Given the description of an element on the screen output the (x, y) to click on. 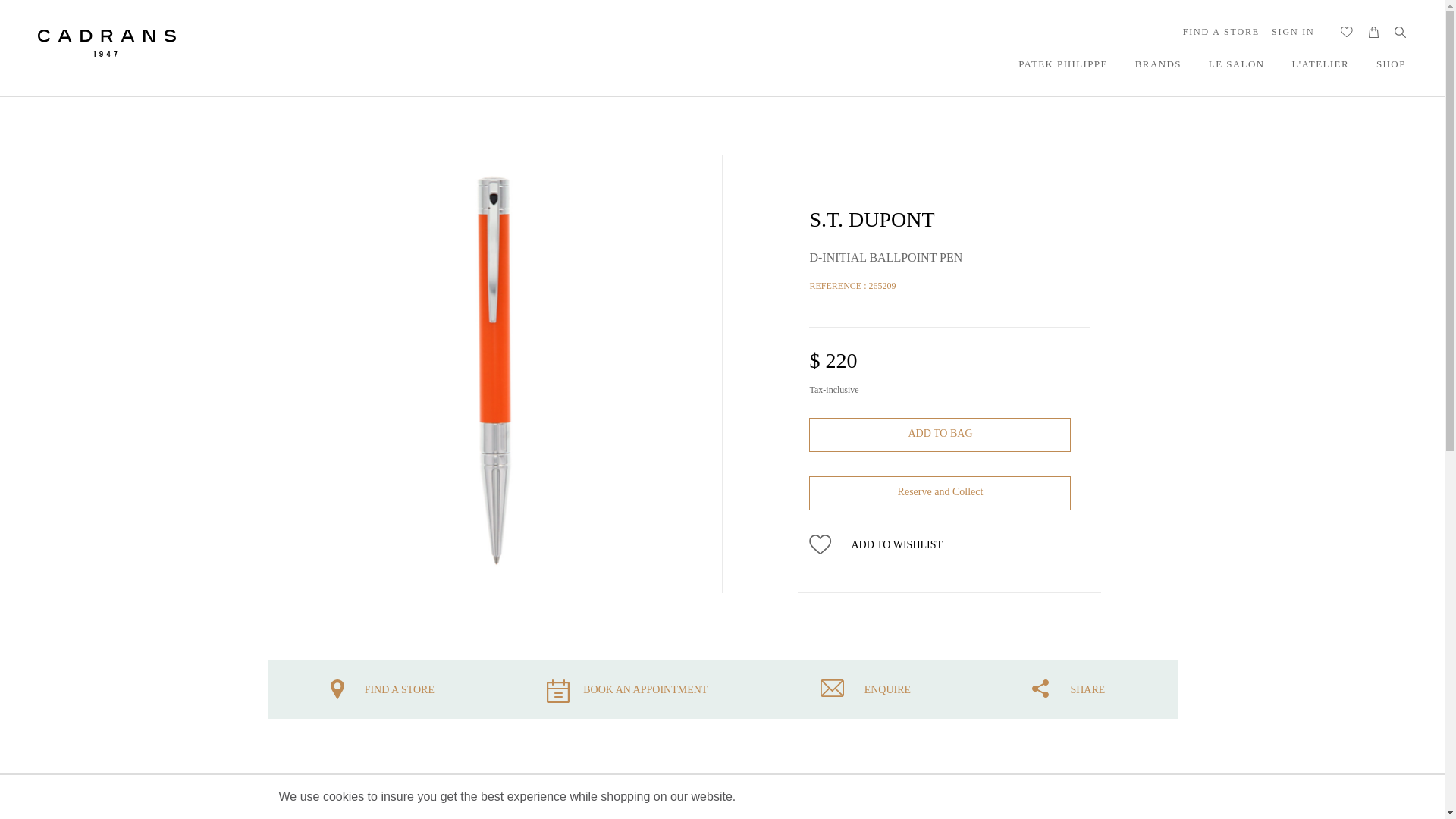
PATEK PHILIPPE (1062, 63)
FIND A STORE (1220, 30)
Wishlist (1347, 31)
BRANDS (1157, 63)
SHOP (1390, 63)
SIGN IN (1292, 30)
LE SALON (1236, 63)
L'ATELIER (1320, 63)
